Given the description of an element on the screen output the (x, y) to click on. 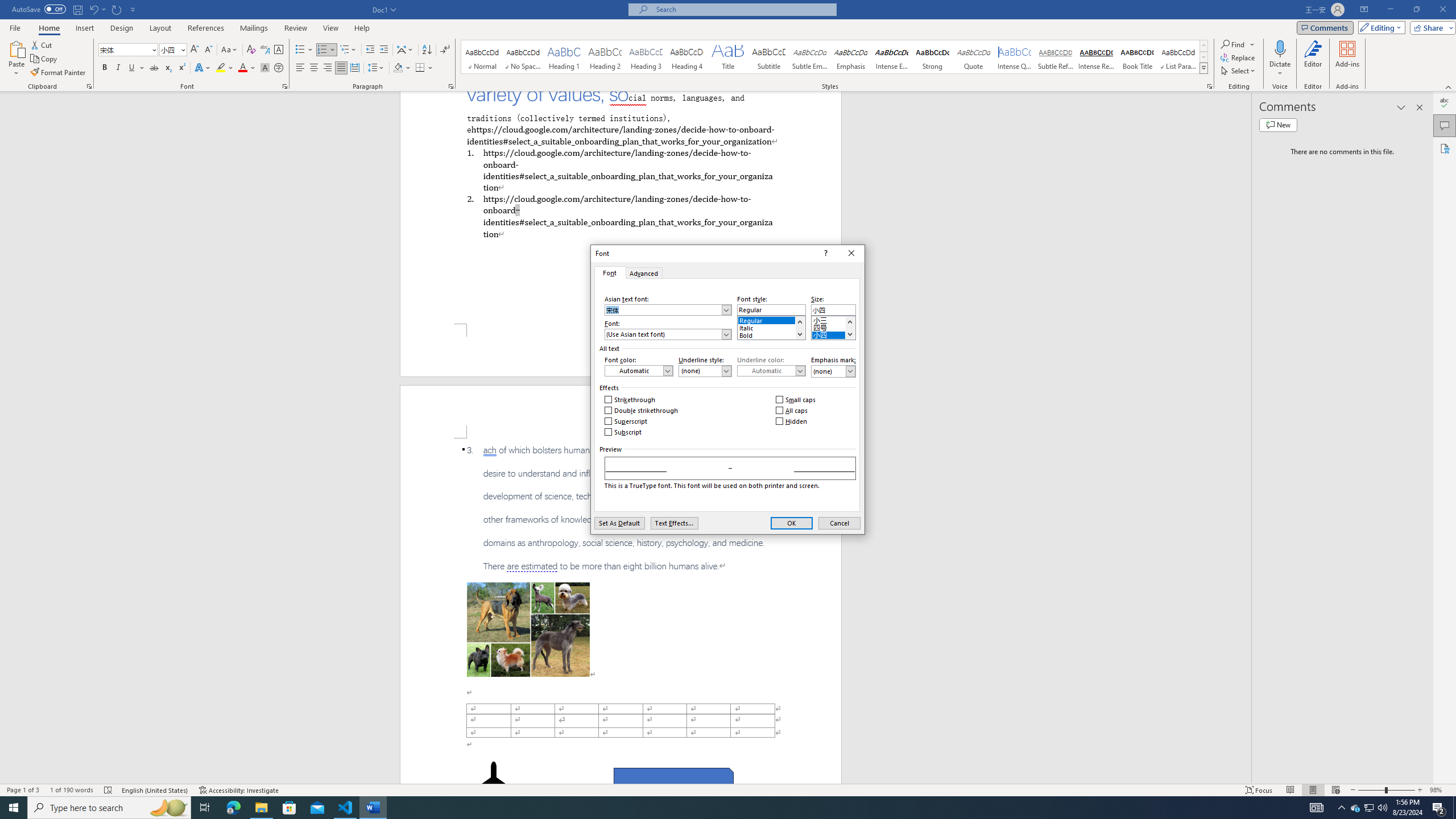
Office Clipboard... (88, 85)
Bullets (304, 49)
Class: NetUIScrollBar (1245, 437)
Show/Hide Editing Marks (444, 49)
Title (727, 56)
Font (609, 272)
Clear Formatting (250, 49)
Microsoft Store (289, 807)
Font Color (Automatic) (638, 370)
Q2790: 100% (1382, 807)
Web Layout (1335, 790)
Editor (1312, 58)
Advanced (643, 272)
Asian text font: (668, 309)
